Given the description of an element on the screen output the (x, y) to click on. 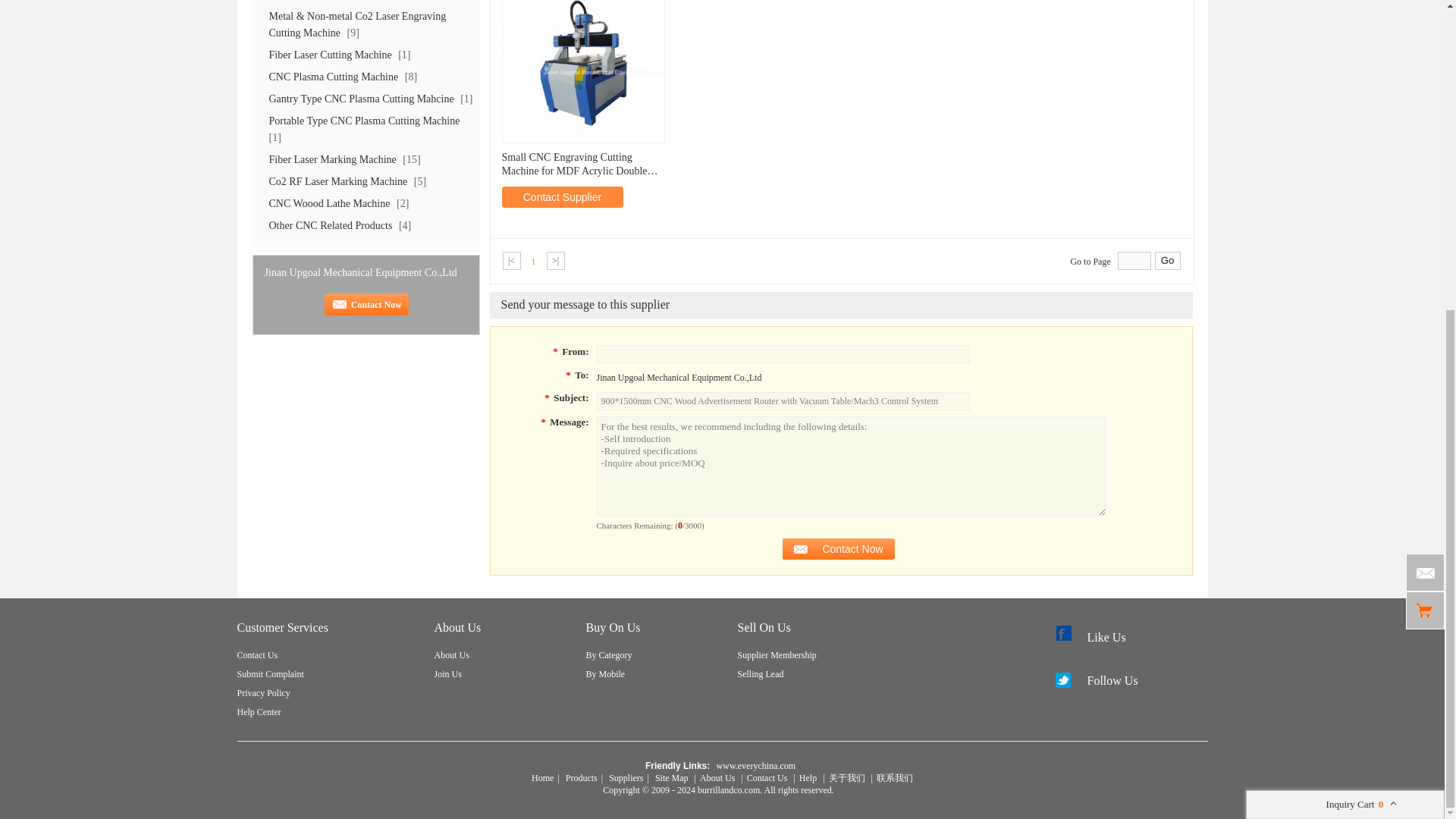
Go (1167, 260)
Contact Now (839, 548)
